Given the description of an element on the screen output the (x, y) to click on. 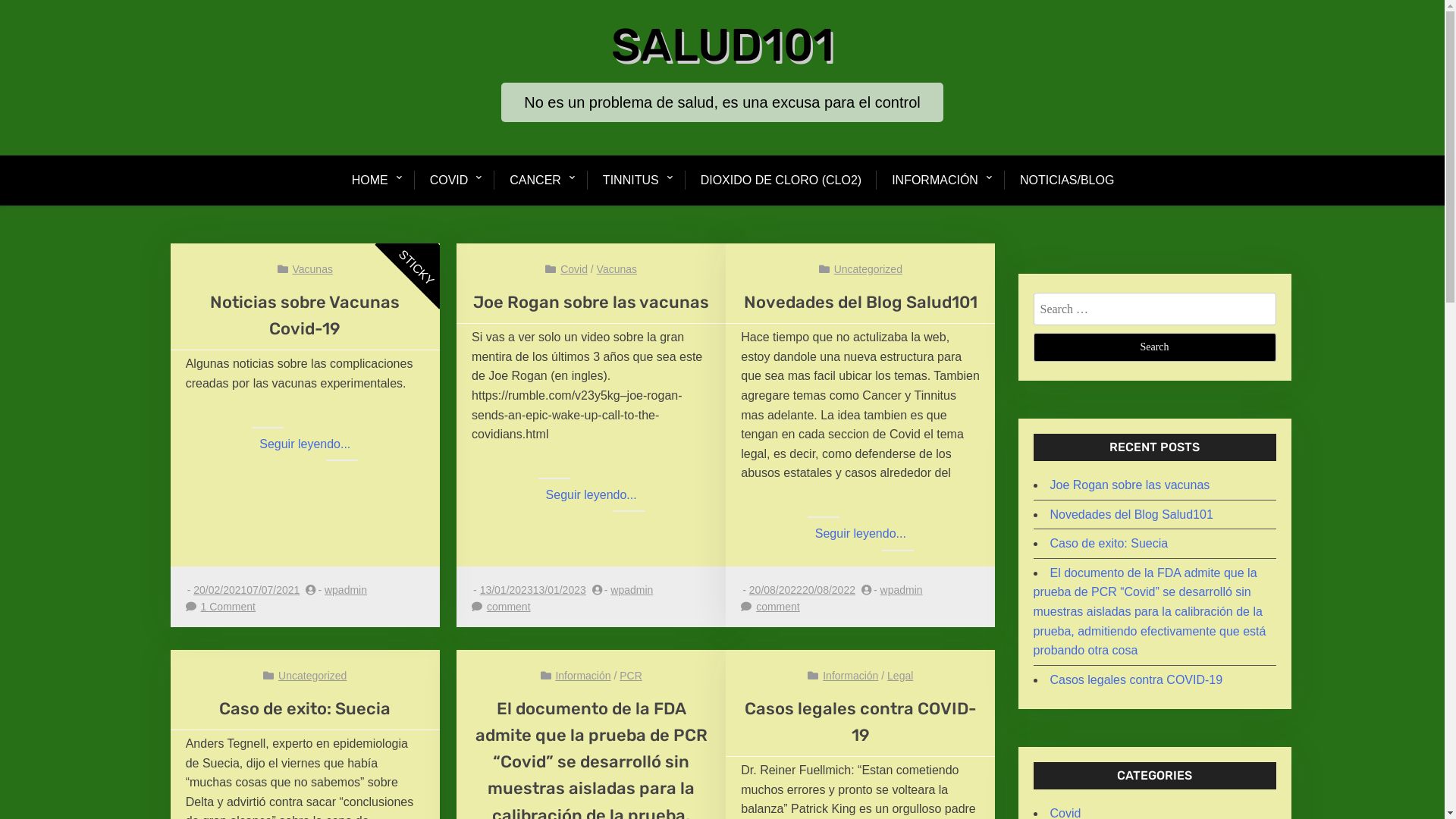
PCR Element type: text (630, 675)
Uncategorized Element type: text (312, 675)
Seguir leyendo... Element type: text (591, 494)
Joe Rogan sobre las vacunas Element type: text (591, 301)
13/01/202313/01/2023 Element type: text (533, 589)
Casos legales contra COVID-19 Element type: text (1135, 679)
Legal Element type: text (900, 675)
20/02/202107/07/2021 Element type: text (246, 589)
CANCER Element type: text (535, 180)
Seguir leyendo... Element type: text (304, 443)
TINNITUS Element type: text (630, 180)
Novedades del Blog Salud101 Element type: text (1130, 514)
comment
on Joe Rogan sobre las vacunas Element type: text (508, 606)
Joe Rogan sobre las vacunas Element type: text (1129, 484)
wpadmin Element type: text (631, 589)
wpadmin Element type: text (345, 589)
Caso de exito: Suecia Element type: text (304, 708)
Casos legales contra COVID-19 Element type: text (860, 721)
Novedades del Blog Salud101 Element type: text (860, 301)
DIOXIDO DE CLORO (CLO2) Element type: text (780, 180)
20/08/202220/08/2022 Element type: text (802, 589)
comment
on Novedades del Blog Salud101 Element type: text (778, 606)
Noticias sobre Vacunas Covid-19 Element type: text (304, 314)
Seguir leyendo... Element type: text (860, 533)
COVID Element type: text (448, 180)
wpadmin Element type: text (901, 589)
SALUD101 Element type: text (722, 45)
1 Comment
on Noticias sobre Vacunas Covid-19 Element type: text (227, 606)
HOME Element type: text (377, 180)
Search Element type: text (1153, 346)
Caso de exito: Suecia Element type: text (1108, 542)
Uncategorized Element type: text (868, 269)
Vacunas Element type: text (616, 269)
NOTICIAS/BLOG Element type: text (1066, 180)
Covid Element type: text (573, 269)
Vacunas Element type: text (312, 269)
